Given the description of an element on the screen output the (x, y) to click on. 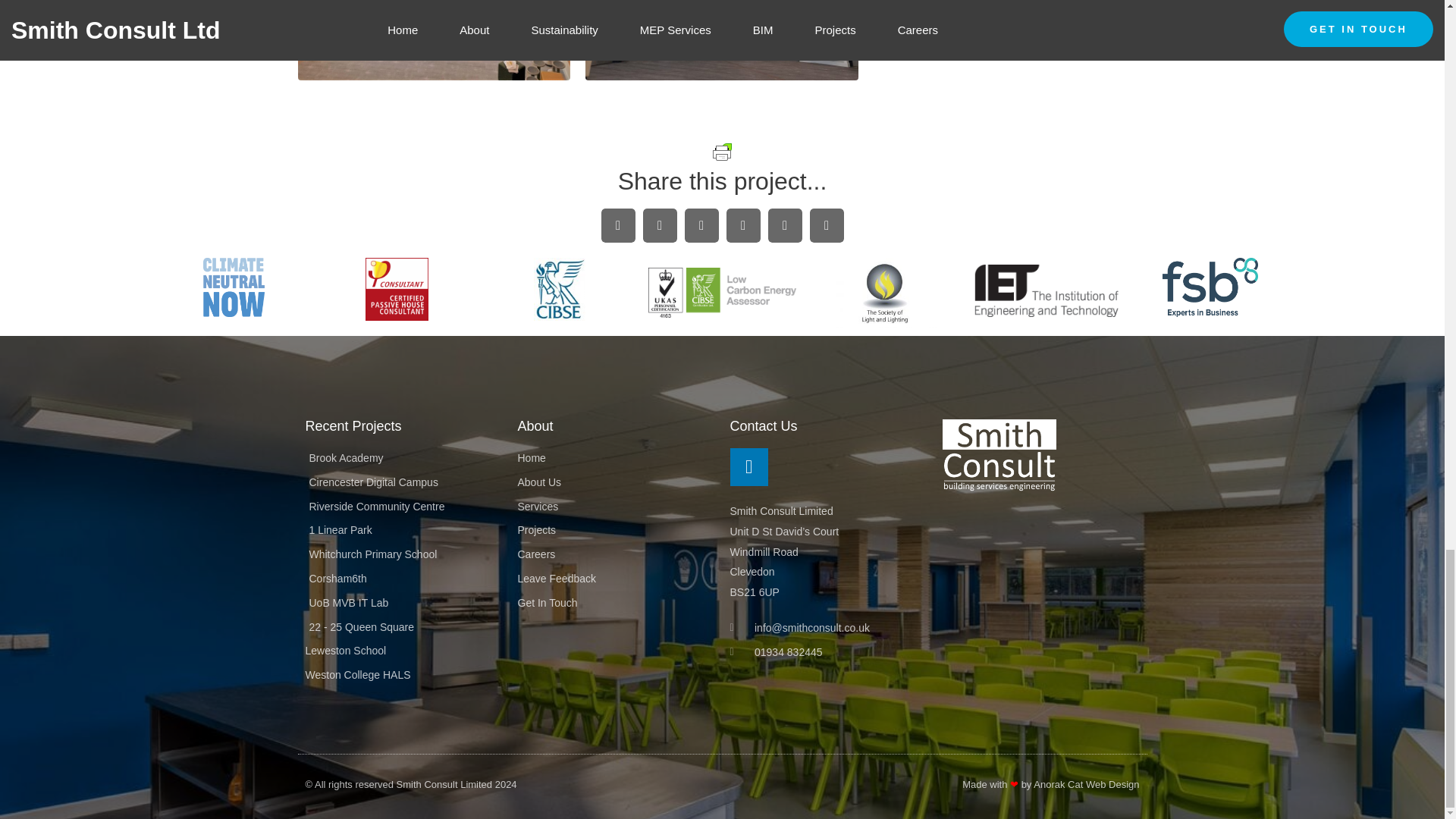
light-and-lighting (884, 292)
ietlogo (1047, 289)
